Given the description of an element on the screen output the (x, y) to click on. 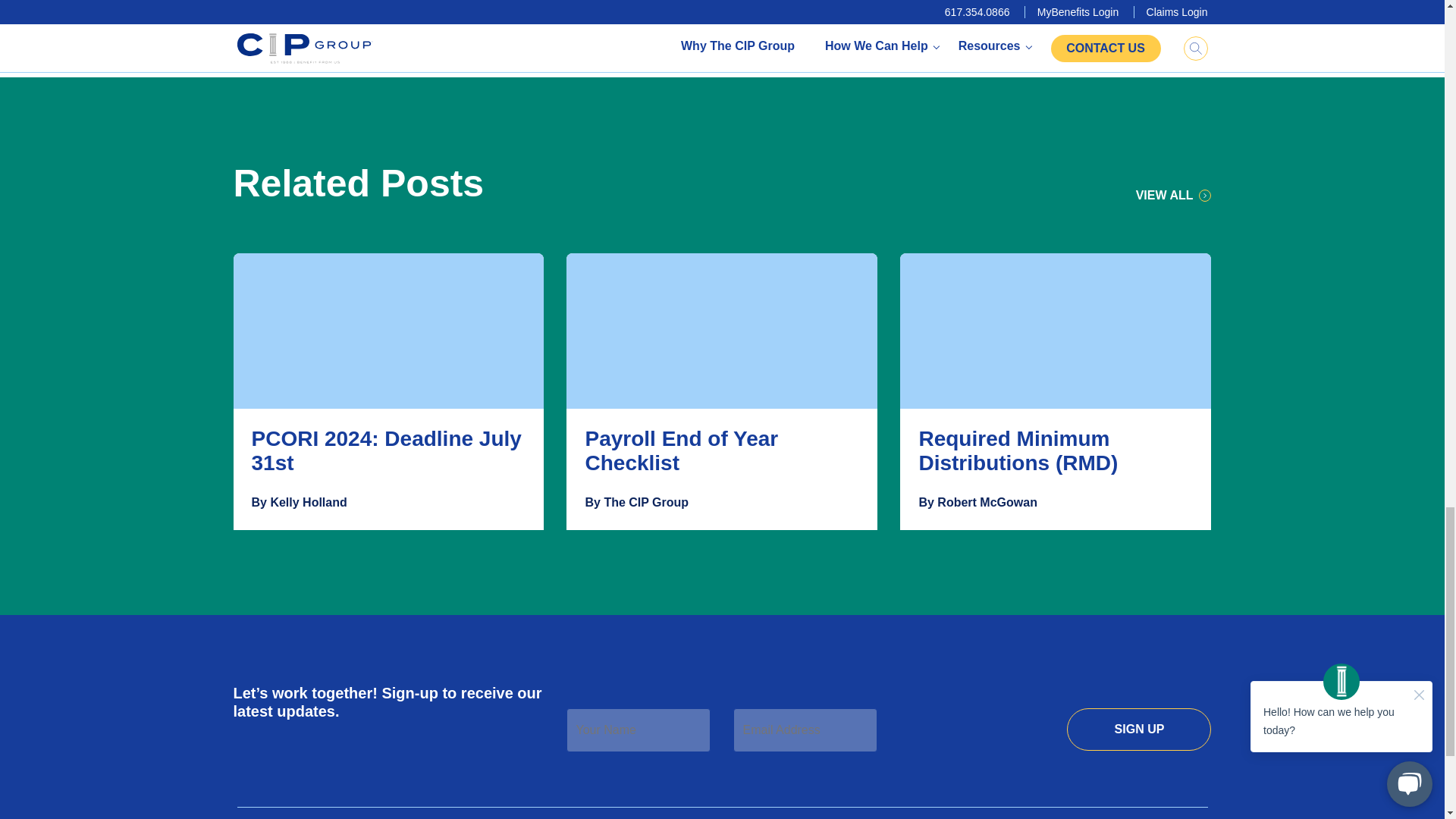
Twitter (861, 9)
LinkedIn (916, 9)
Facebook (968, 9)
Copy Link (1024, 9)
